Given the description of an element on the screen output the (x, y) to click on. 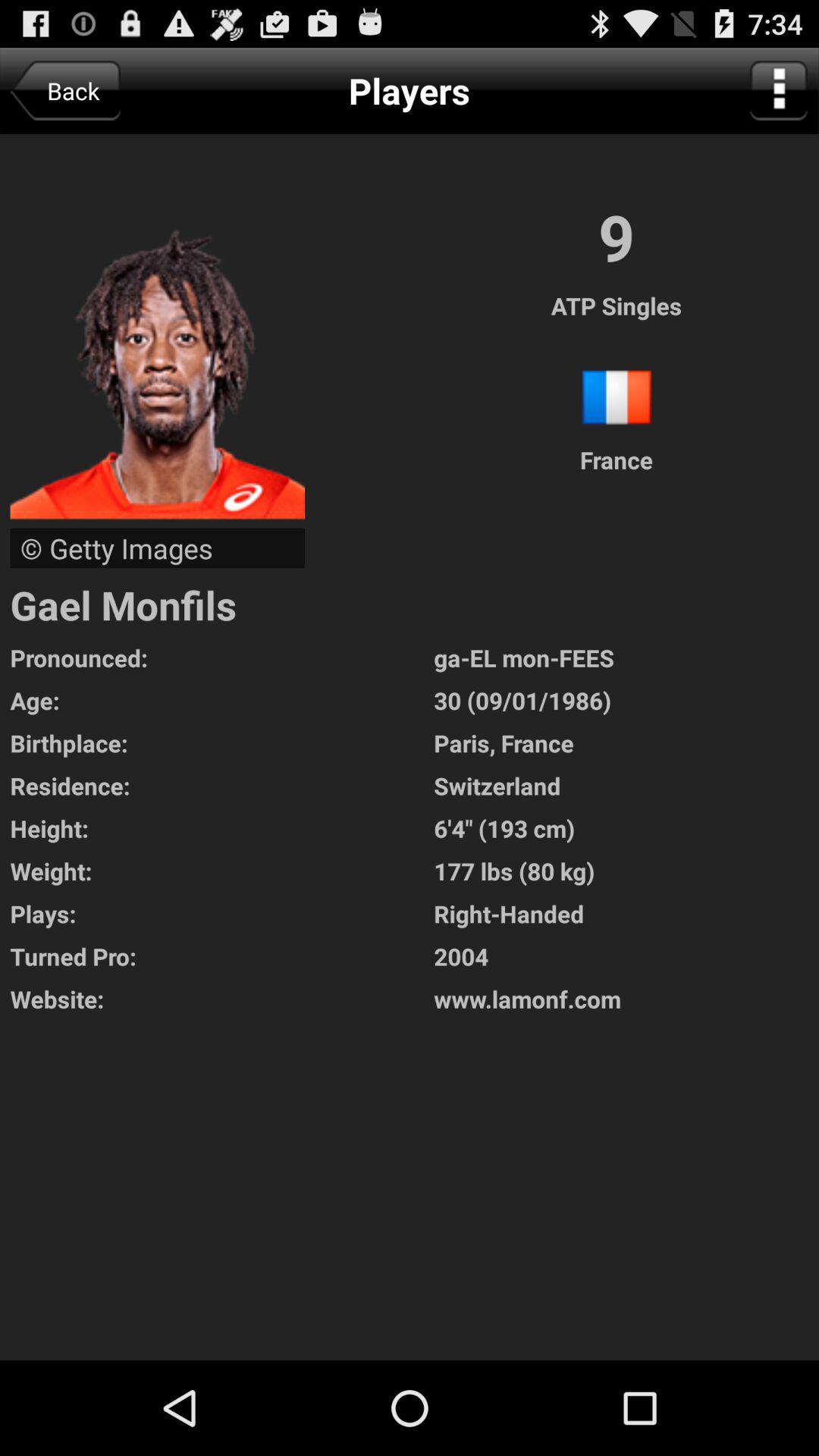
press the icon above the website: icon (626, 956)
